Given the description of an element on the screen output the (x, y) to click on. 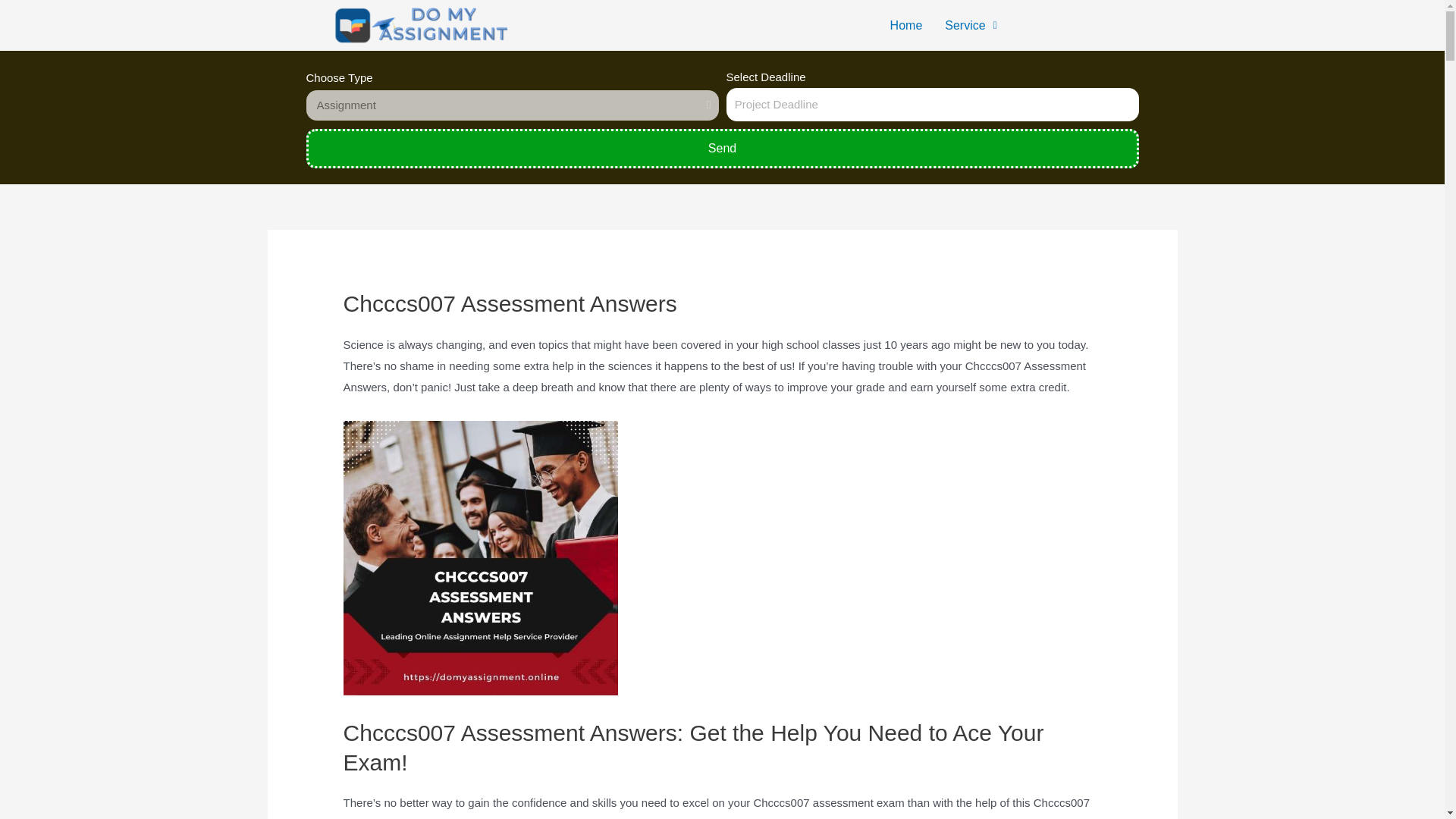
Service (970, 25)
Home (906, 25)
